Given the description of an element on the screen output the (x, y) to click on. 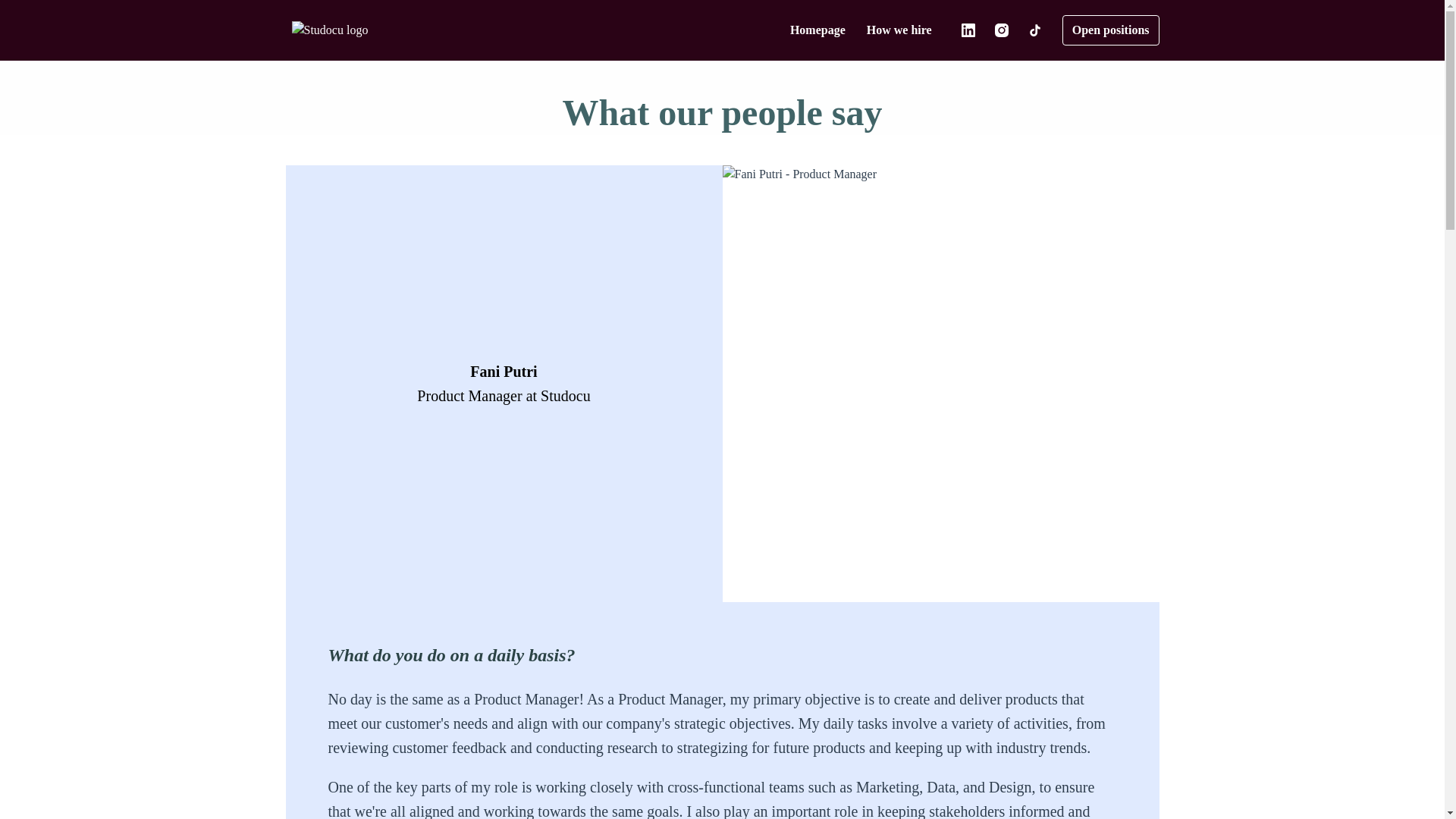
Open positions (1110, 30)
linkedin (968, 30)
Homepage (329, 30)
instagram (1001, 30)
tiktok (1034, 30)
How we hire (898, 30)
Homepage (817, 30)
